Given the description of an element on the screen output the (x, y) to click on. 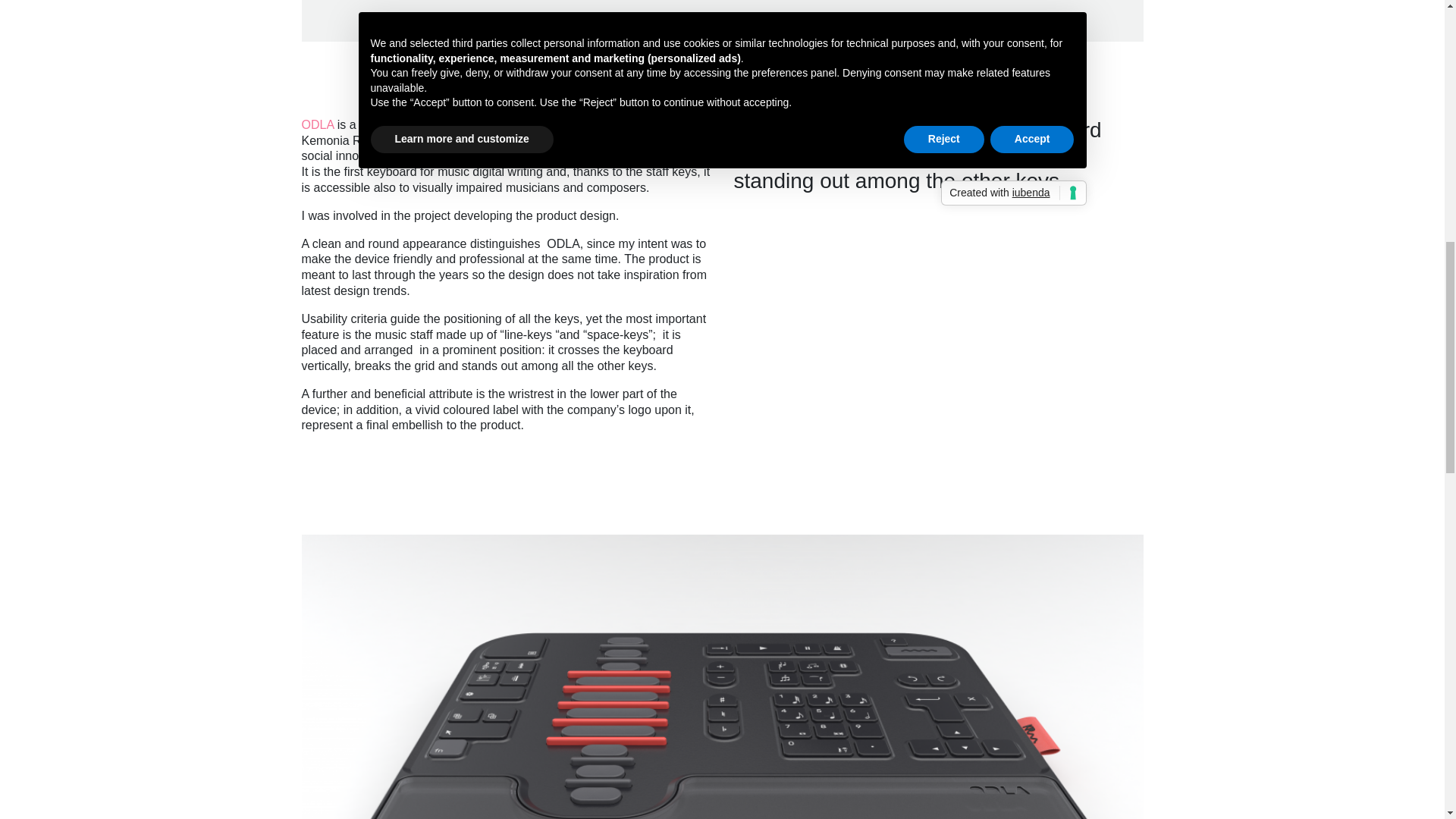
ODLA (317, 124)
